Given the description of an element on the screen output the (x, y) to click on. 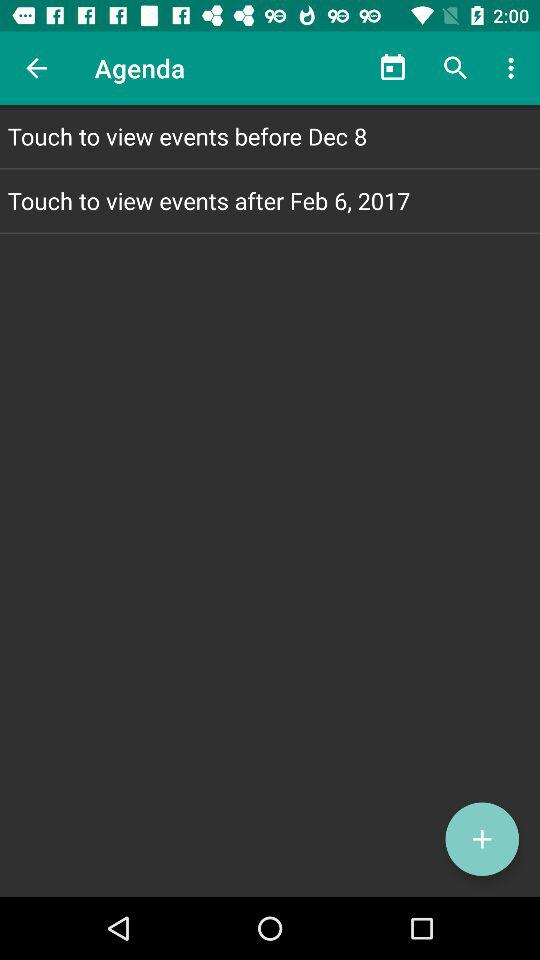
open item next to agenda icon (36, 68)
